Given the description of an element on the screen output the (x, y) to click on. 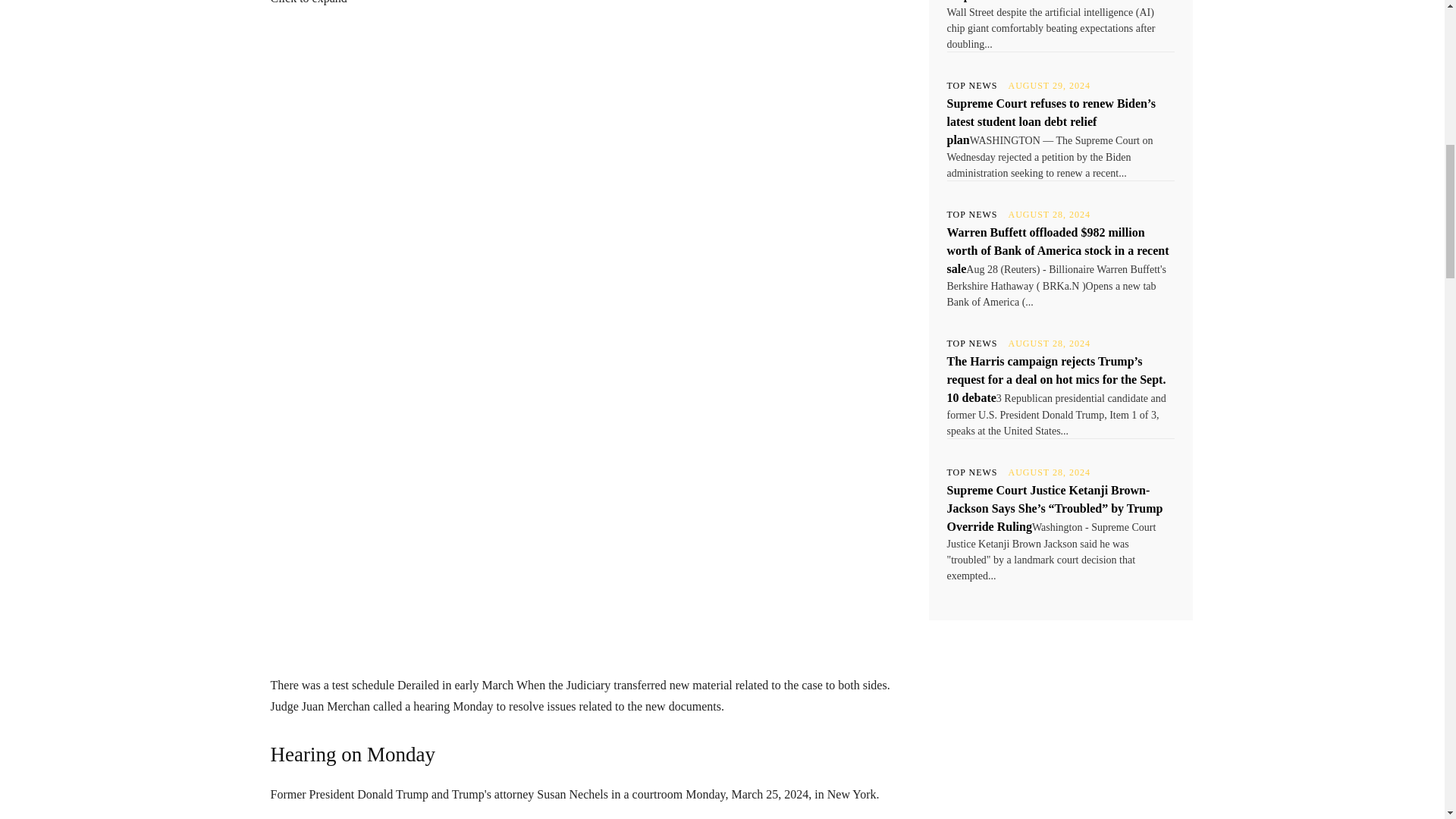
TOP NEWS (971, 85)
TOP NEWS (971, 471)
TOP NEWS (971, 343)
TOP NEWS (971, 214)
